Given the description of an element on the screen output the (x, y) to click on. 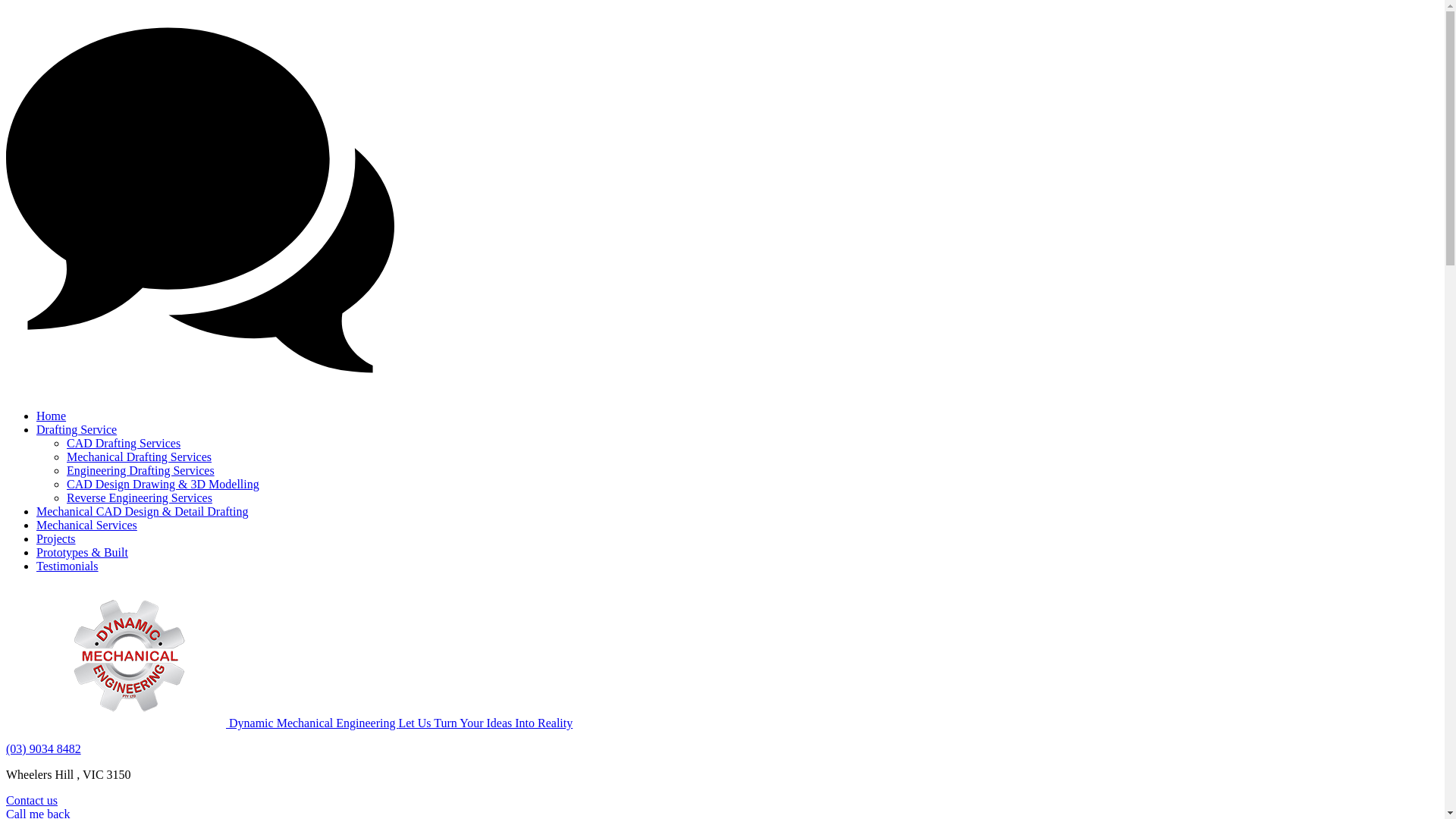
Contact us Element type: text (31, 799)
Engineering Drafting Services Element type: text (140, 470)
Mechanical Drafting Services Element type: text (138, 456)
Drafting Service Element type: text (76, 429)
Home Element type: text (50, 415)
Mechanical CAD Design & Detail Drafting Element type: text (141, 511)
CAD Design Drawing & 3D Modelling Element type: text (162, 483)
Reverse Engineering Services Element type: text (139, 497)
Mechanical Services Element type: text (86, 524)
Projects Element type: text (55, 538)
Testimonials Element type: text (67, 565)
Prototypes & Built Element type: text (82, 552)
(03) 9034 8482 Element type: text (43, 748)
CAD Drafting Services Element type: text (123, 442)
